Given the description of an element on the screen output the (x, y) to click on. 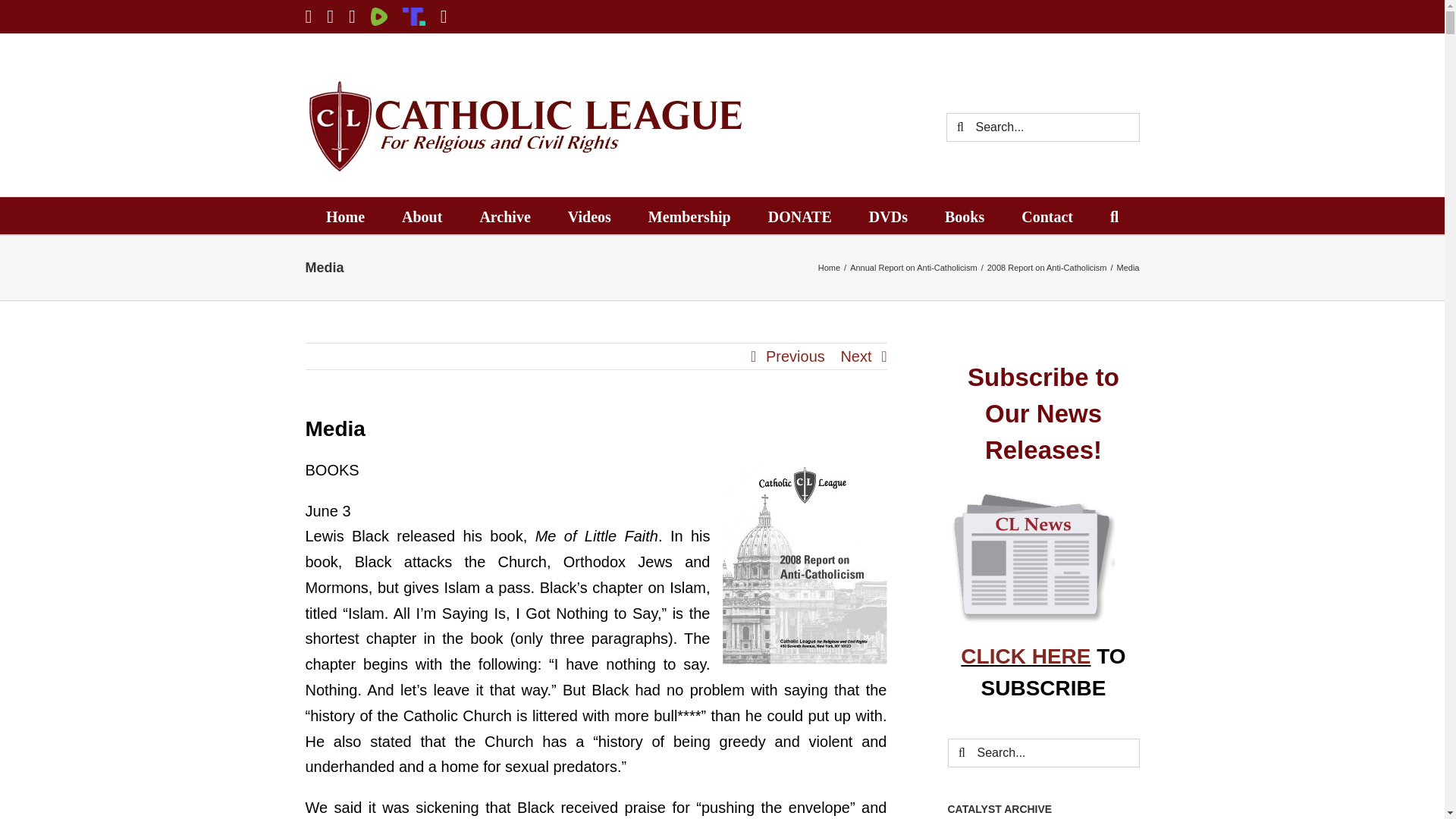
Membership (688, 215)
Archive (504, 215)
Rumble (379, 16)
Videos (589, 215)
Truth Social (414, 16)
Books (964, 215)
Contact (1047, 215)
DONATE (799, 215)
Home (345, 215)
DVDs (888, 215)
About (421, 215)
